Given the description of an element on the screen output the (x, y) to click on. 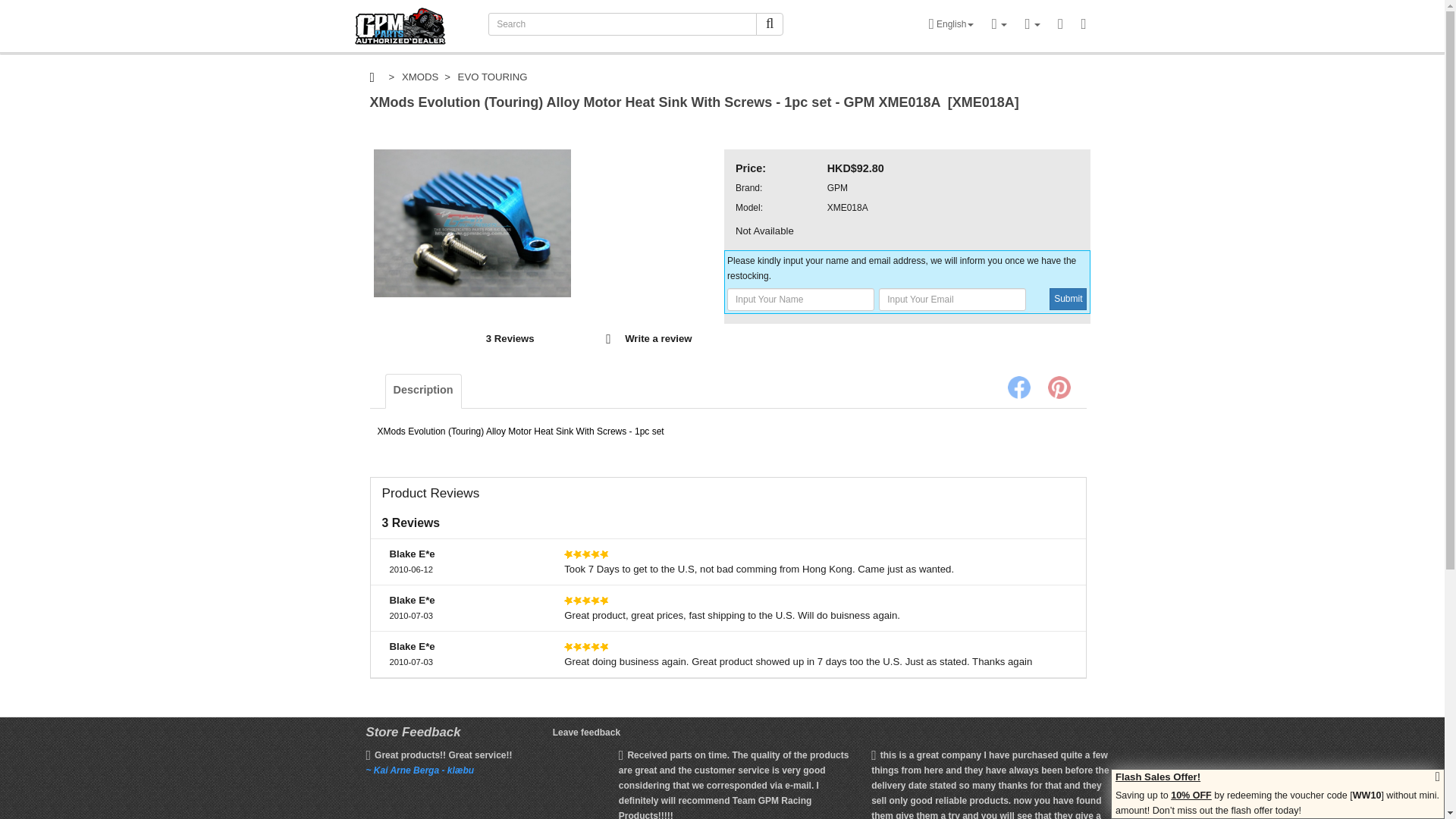
My Account (1032, 23)
Store Logo (400, 26)
Pinterest (1059, 386)
Currency (999, 23)
English (951, 23)
Language (951, 23)
searchButton (769, 24)
Share on Facebook (1018, 386)
